Given the description of an element on the screen output the (x, y) to click on. 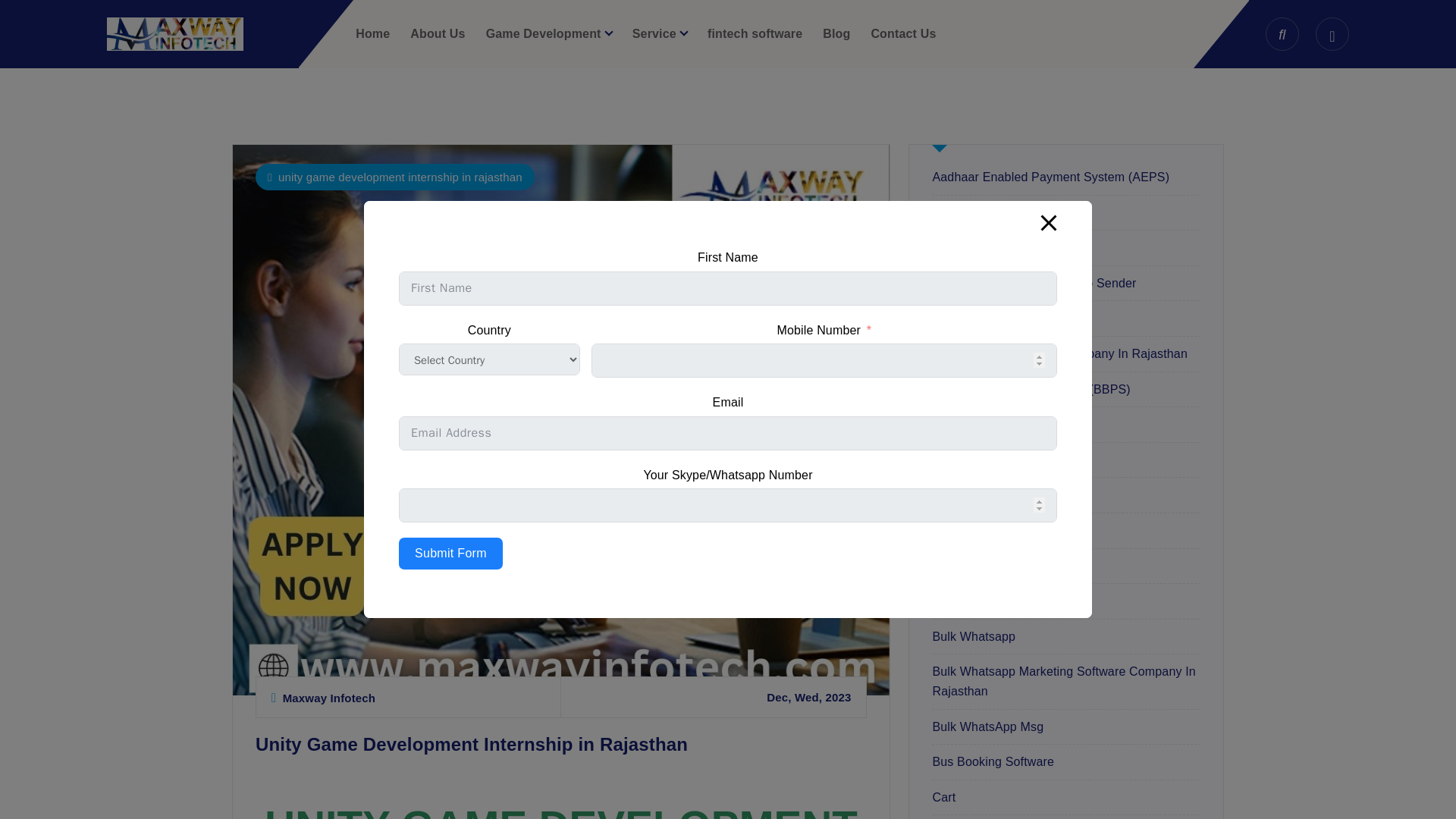
Service (659, 33)
Game Development (548, 33)
Game Development (548, 33)
fintech software (754, 33)
fintech software (754, 33)
Contact Us (903, 33)
About Us (437, 33)
Home (372, 33)
Service (659, 33)
Blog (836, 33)
